Given the description of an element on the screen output the (x, y) to click on. 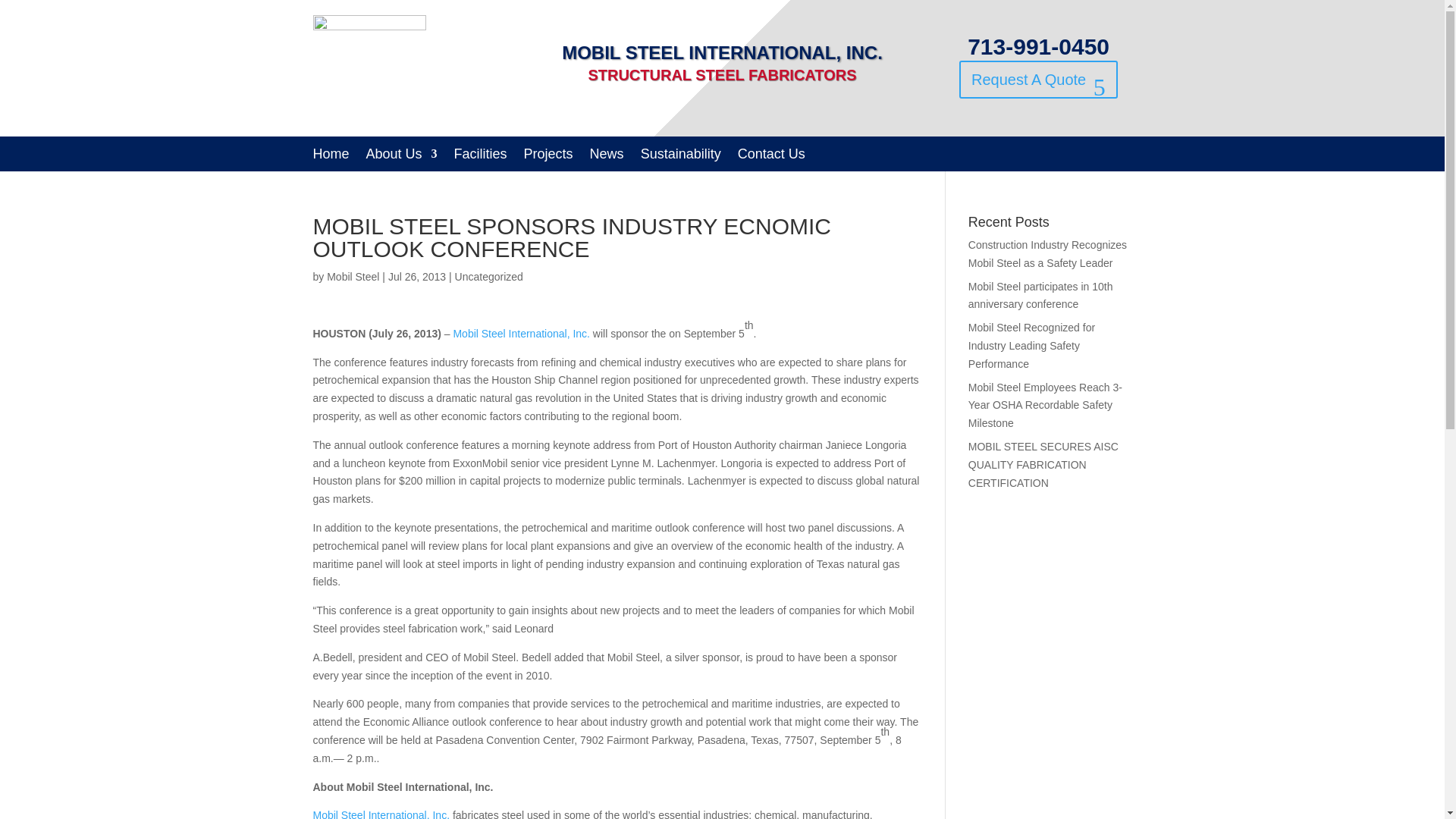
mobilsteelfabricators (369, 68)
Contact Us (771, 156)
News (606, 156)
MOBIL STEEL SECURES AISC QUALITY FABRICATION CERTIFICATION (1043, 464)
Sustainability (680, 156)
Mobil Steel participates in 10th anniversary conference (1040, 295)
Mobil Steel International, Inc. (382, 814)
Home (331, 156)
About Us (402, 156)
Mobil Steel International, Inc. (520, 333)
